Given the description of an element on the screen output the (x, y) to click on. 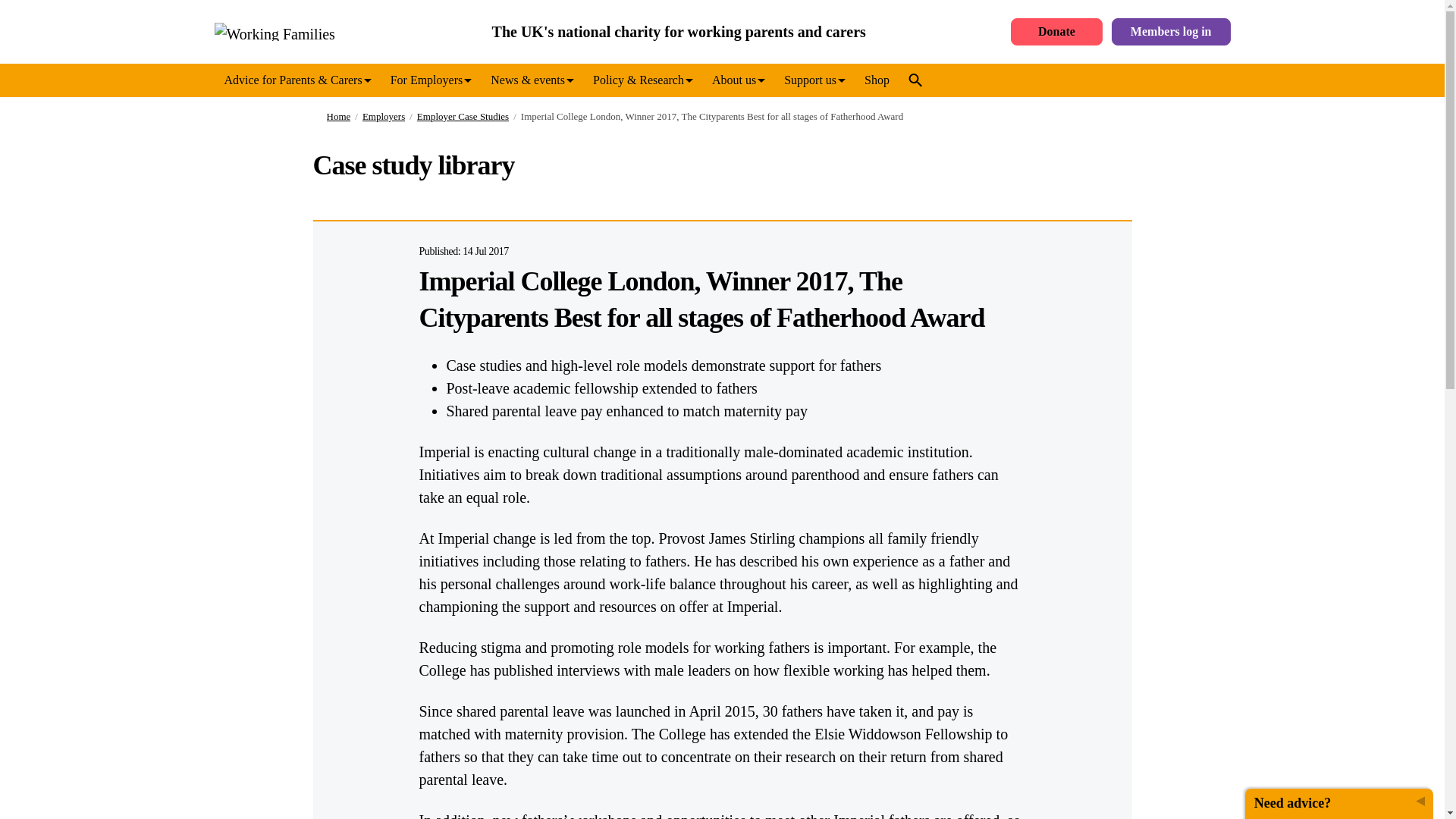
For Employers (430, 80)
Employer Case Studies (456, 117)
Employers (377, 117)
Members log in (1171, 31)
Donate (1056, 31)
